Given the description of an element on the screen output the (x, y) to click on. 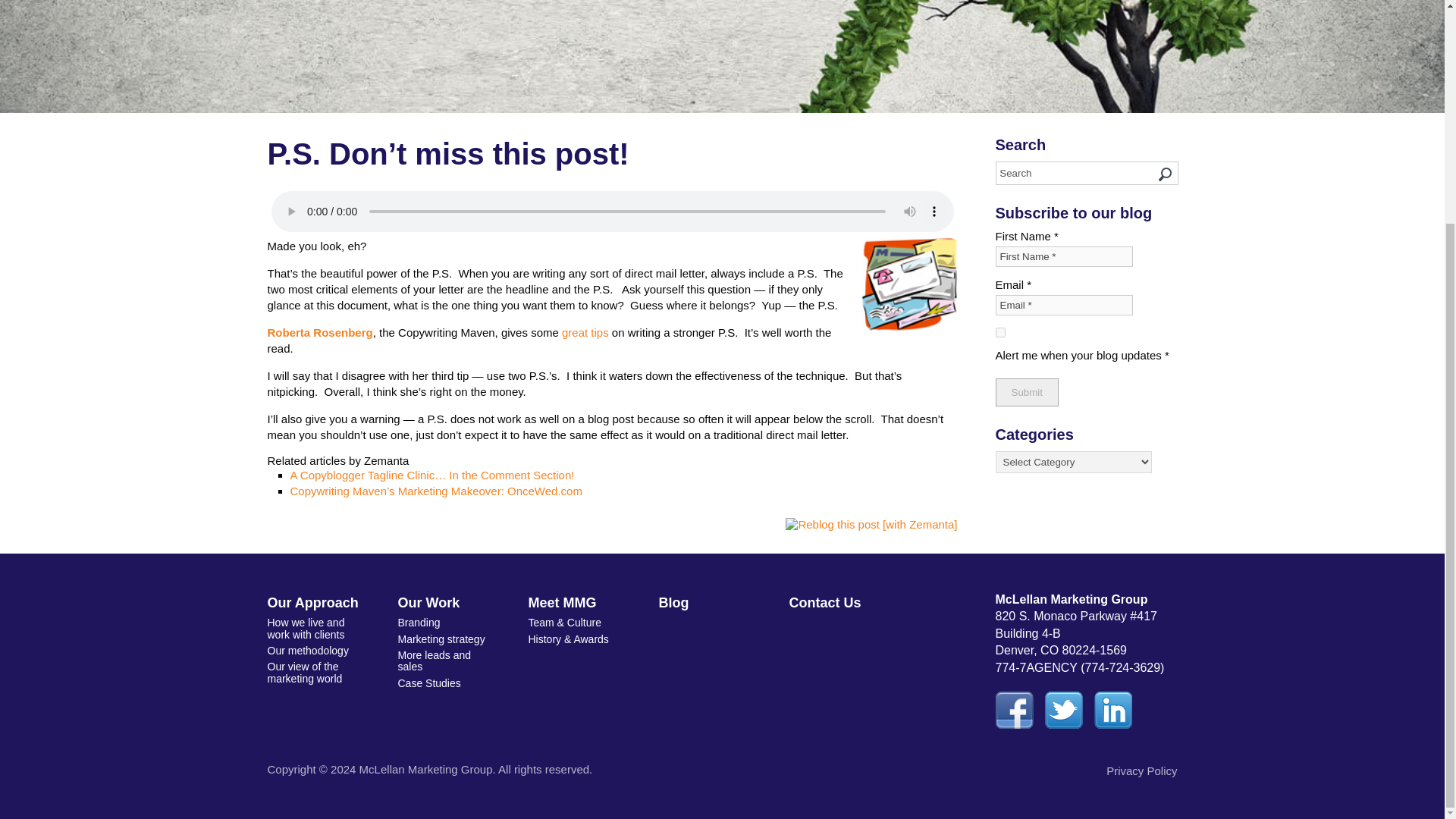
496 (999, 332)
Search (1085, 173)
Search (1085, 173)
Roberta Rosenberg (319, 332)
21121021 (909, 284)
great tips (585, 332)
